Given the description of an element on the screen output the (x, y) to click on. 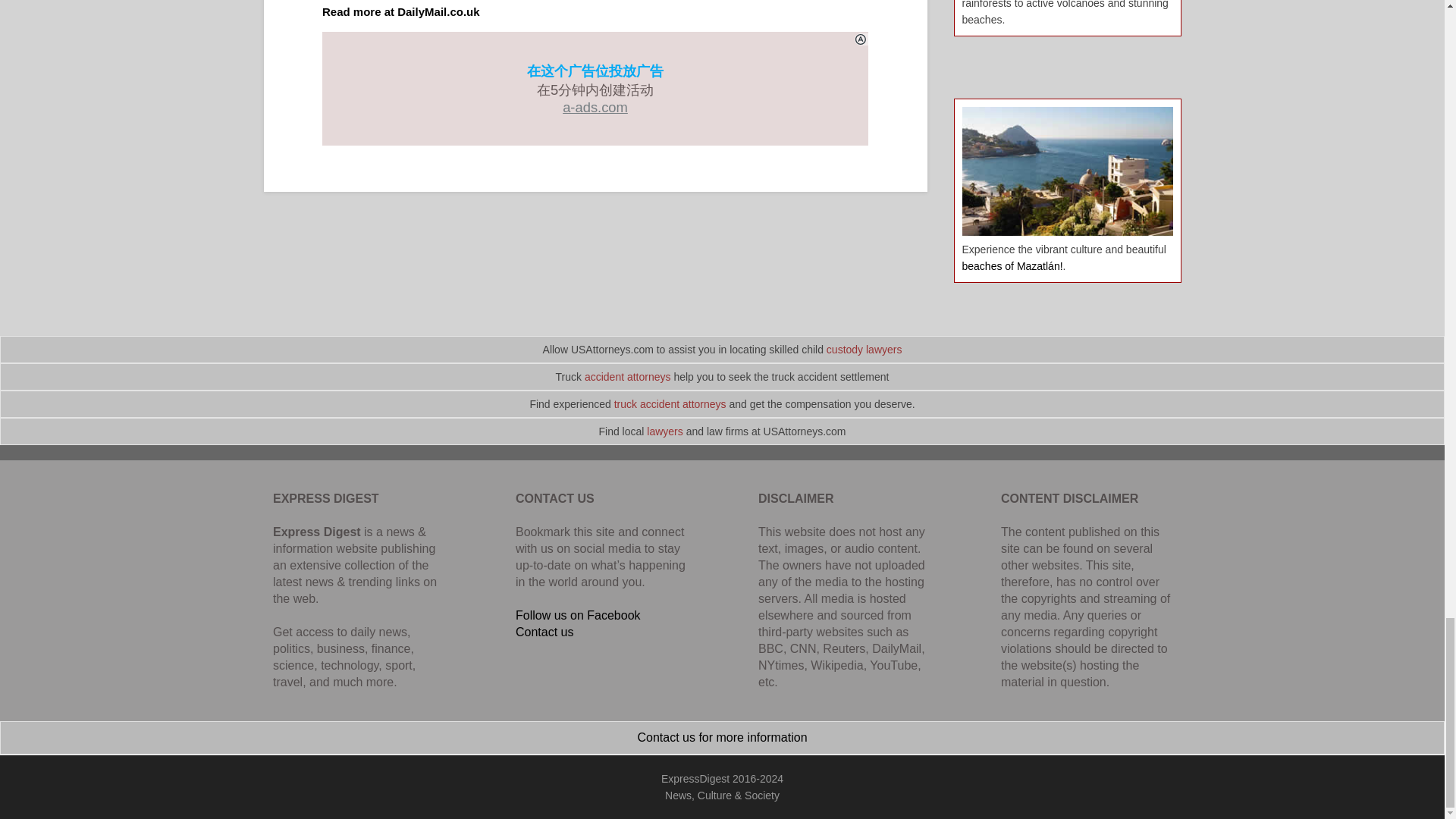
custody lawyers (864, 349)
Read more at DailyMail.co.uk (400, 11)
accident attorneys (628, 377)
truck accident attorneys (670, 404)
lawyers (664, 431)
